Given the description of an element on the screen output the (x, y) to click on. 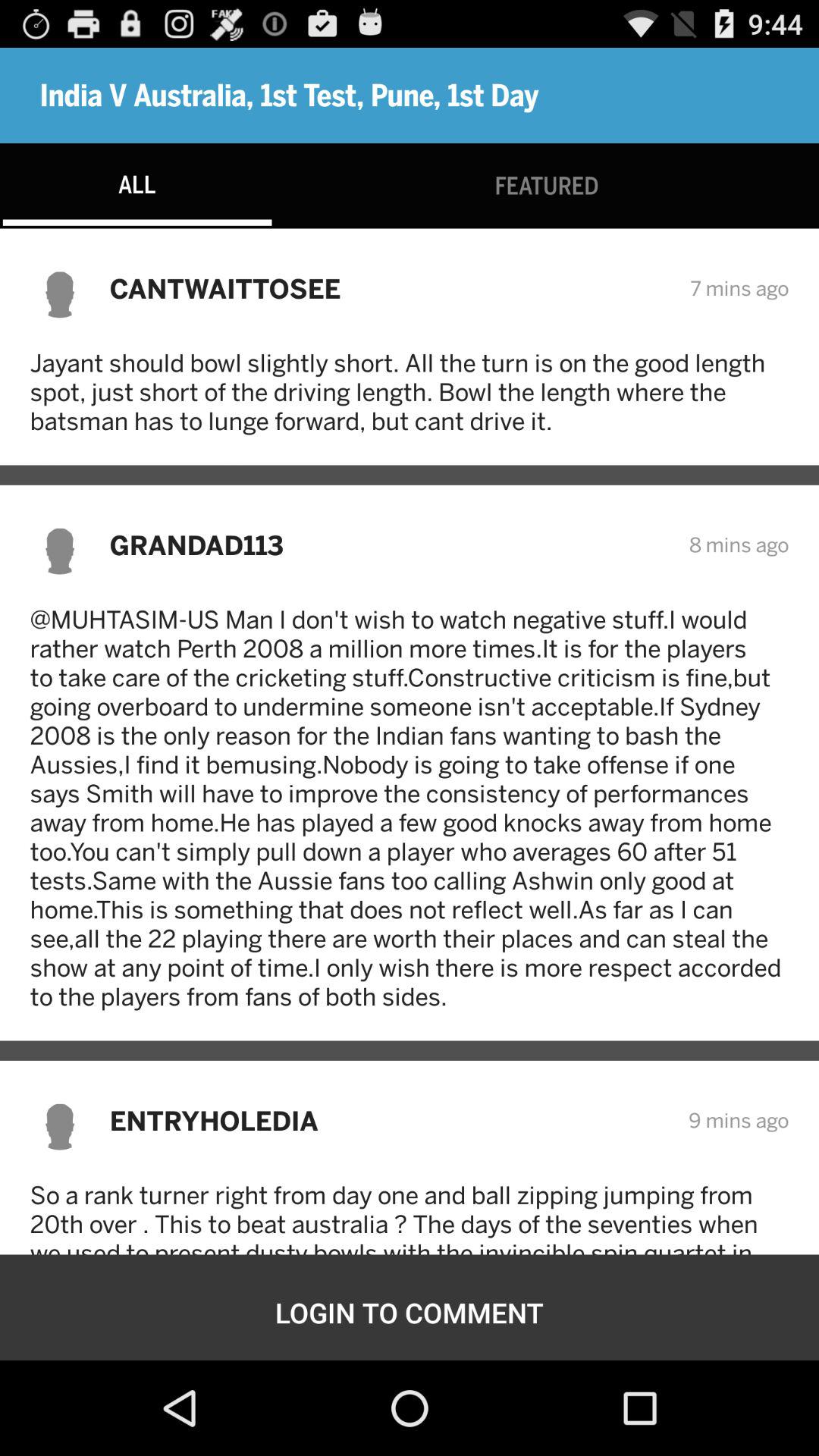
turn off item above muhtasim us man item (389, 544)
